Given the description of an element on the screen output the (x, y) to click on. 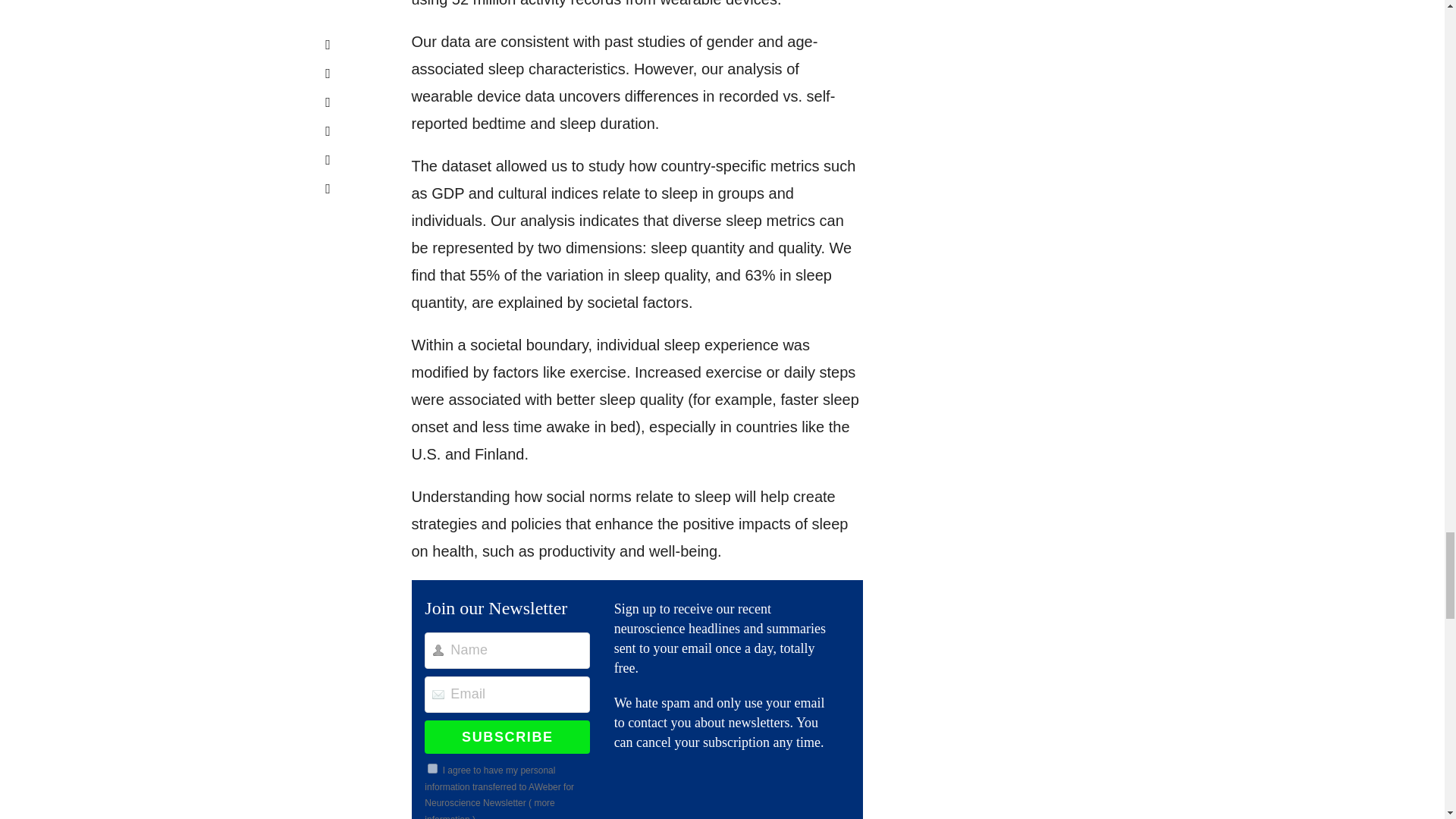
SUBSCRIBE (507, 736)
more information (489, 808)
on (433, 768)
SUBSCRIBE (507, 736)
